Given the description of an element on the screen output the (x, y) to click on. 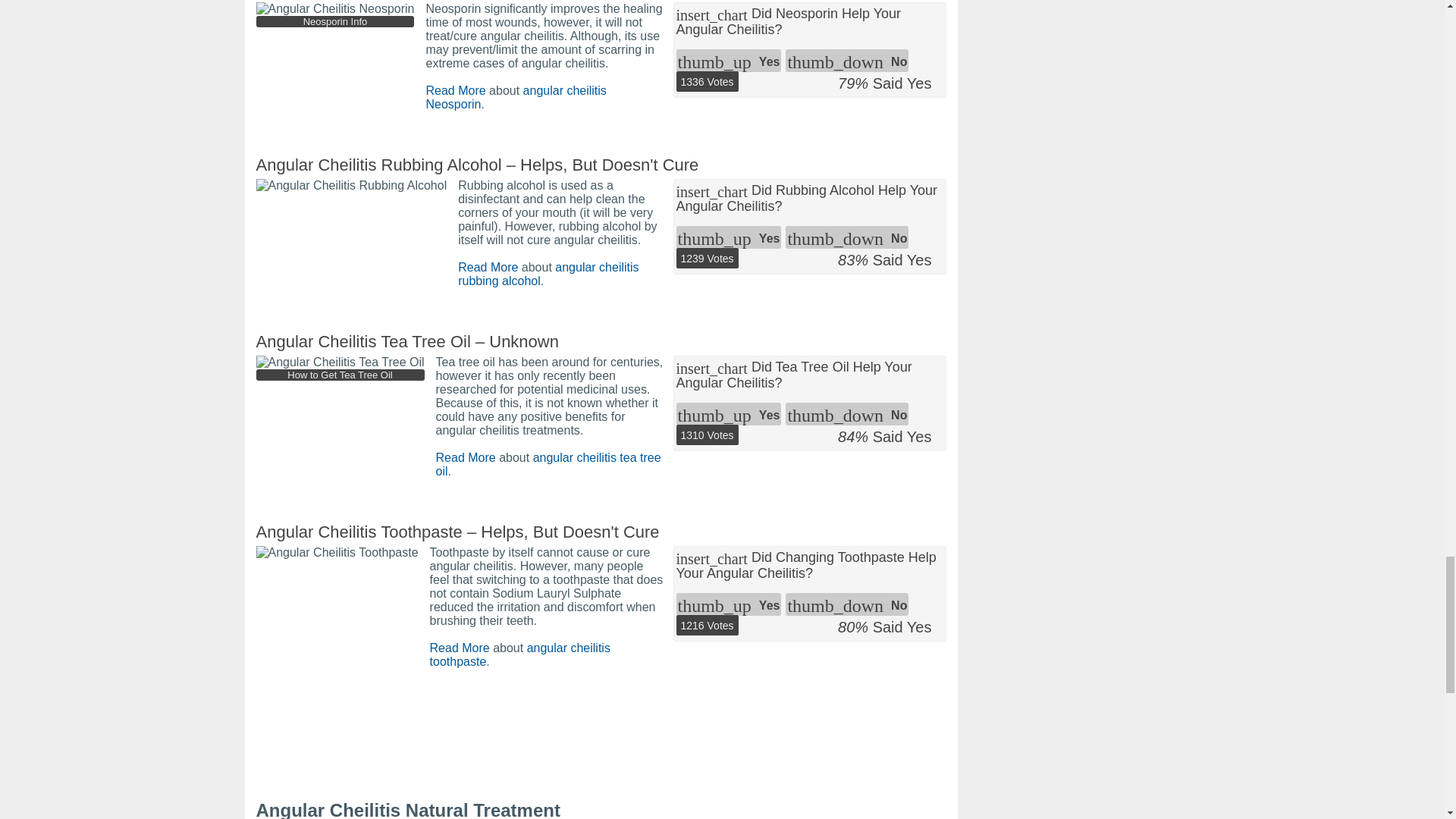
Read More (465, 457)
Read More (459, 647)
angular cheilitis tea tree oil (548, 464)
Read More (454, 90)
angular cheilitis toothpaste (519, 654)
angular cheilitis Neosporin (515, 97)
Read More (488, 267)
angular cheilitis rubbing alcohol (548, 274)
